Given the description of an element on the screen output the (x, y) to click on. 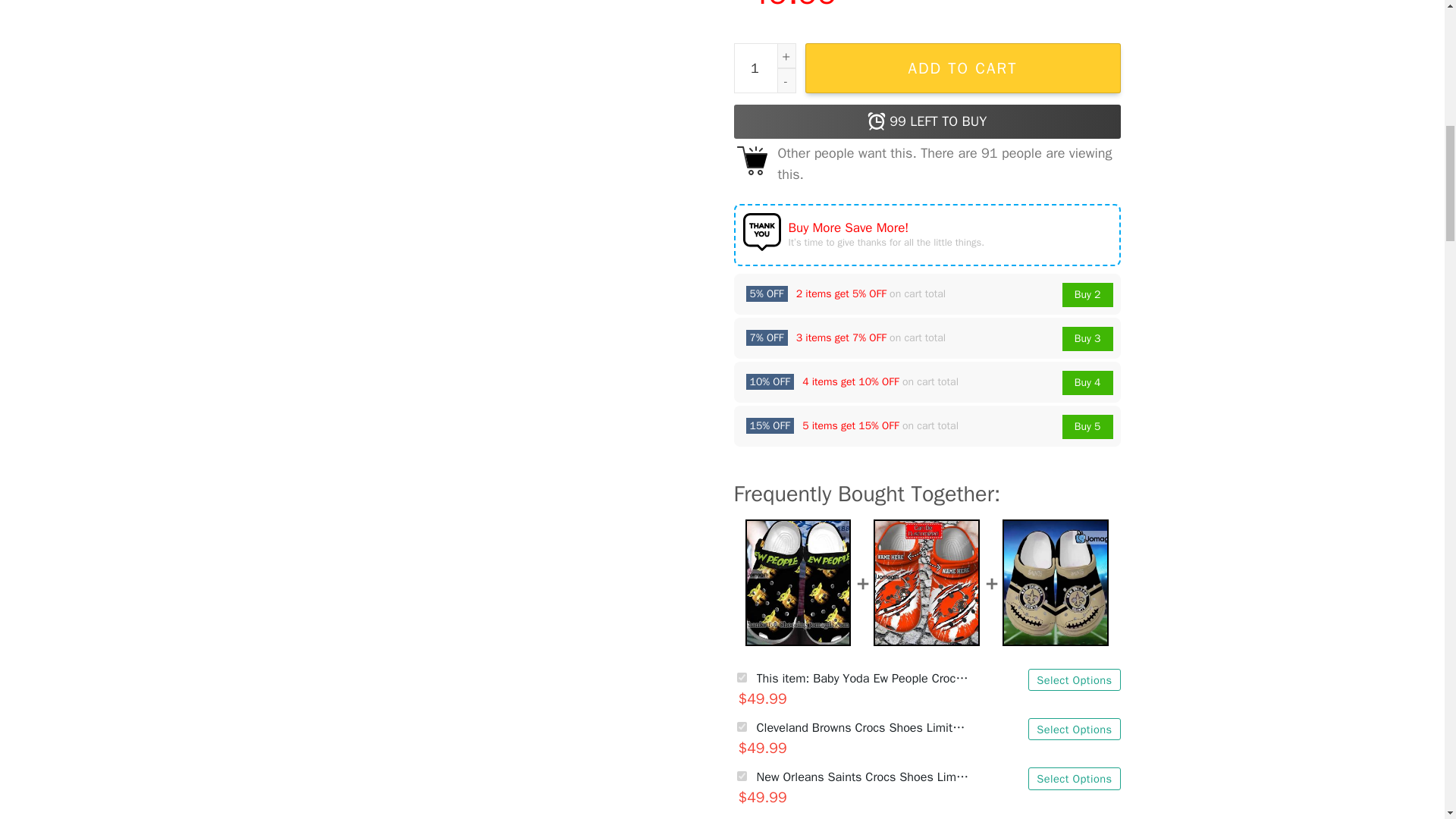
1 (764, 68)
361095 (741, 677)
40163 (741, 726)
40189 (741, 776)
